Given the description of an element on the screen output the (x, y) to click on. 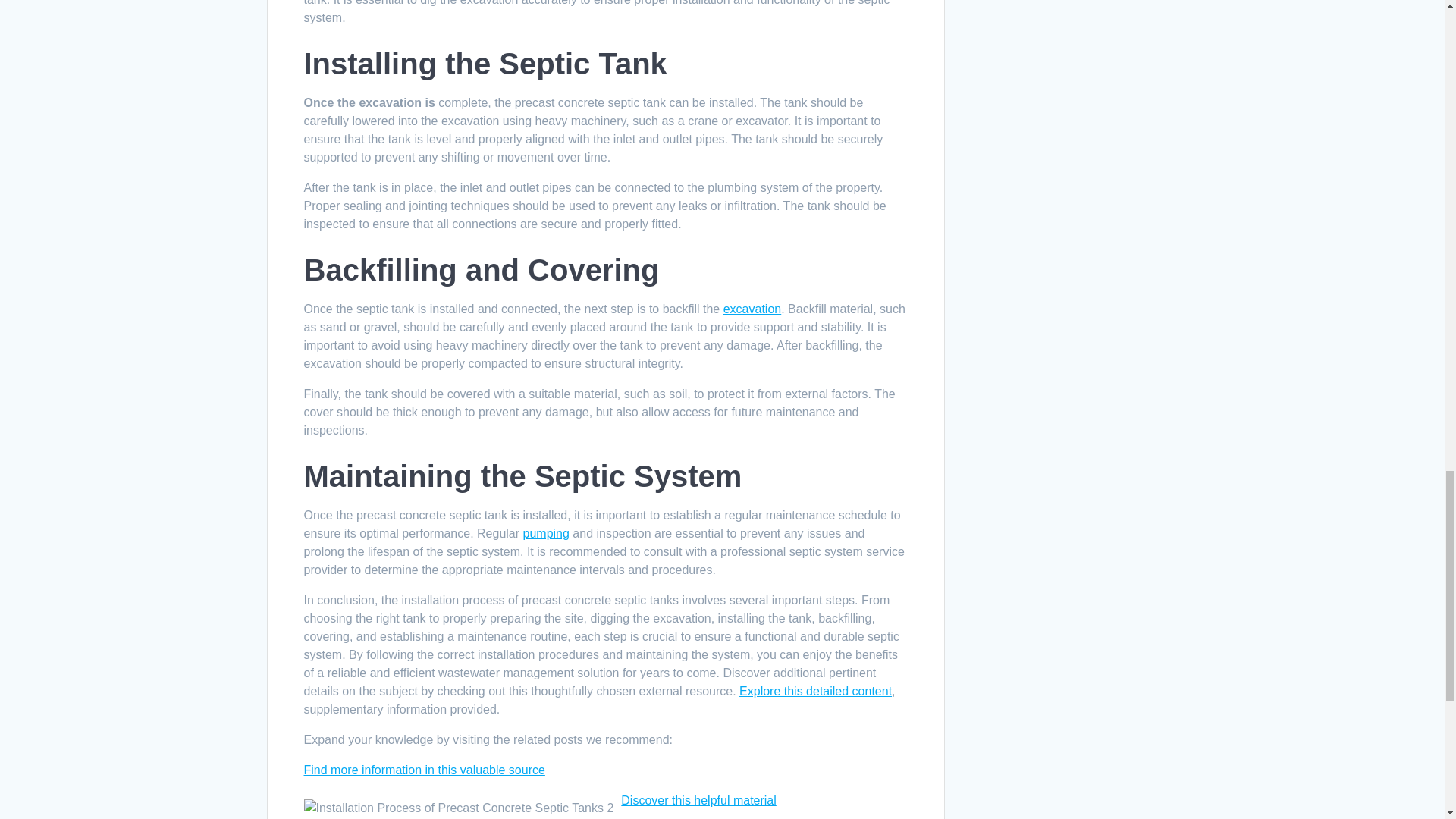
excavation (752, 308)
pumping (545, 533)
Find more information in this valuable source (423, 769)
Explore this detailed content (815, 690)
Discover this helpful material (698, 799)
